Given the description of an element on the screen output the (x, y) to click on. 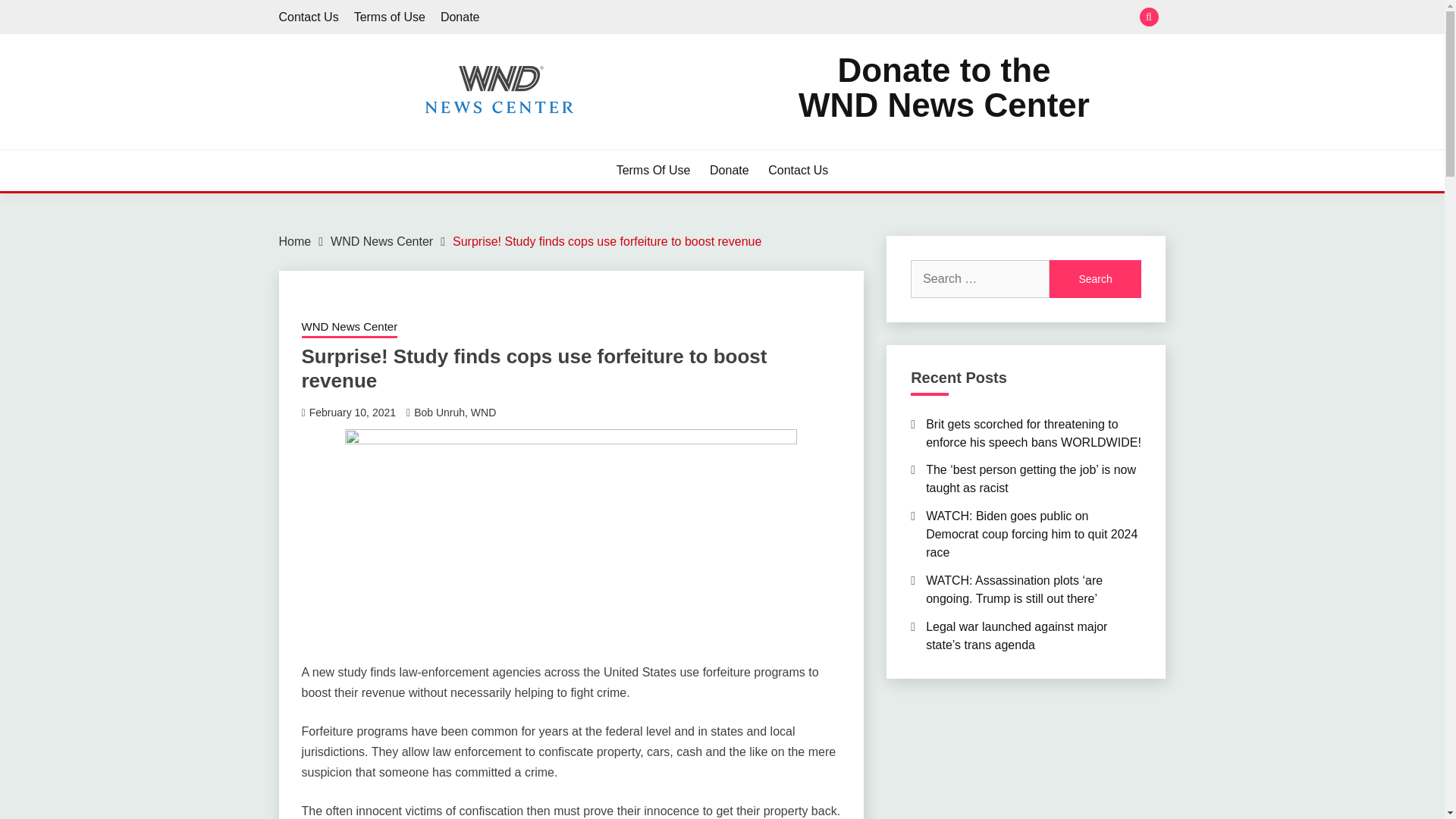
Bob Unruh, WND (454, 412)
WND News Center (381, 241)
Terms Of Use (652, 170)
Search (1095, 279)
WND News Center (349, 328)
Donate (729, 170)
WND NEWS CENTER (419, 142)
February 10, 2021 (352, 412)
Home (295, 241)
Terms of Use (389, 16)
